Given the description of an element on the screen output the (x, y) to click on. 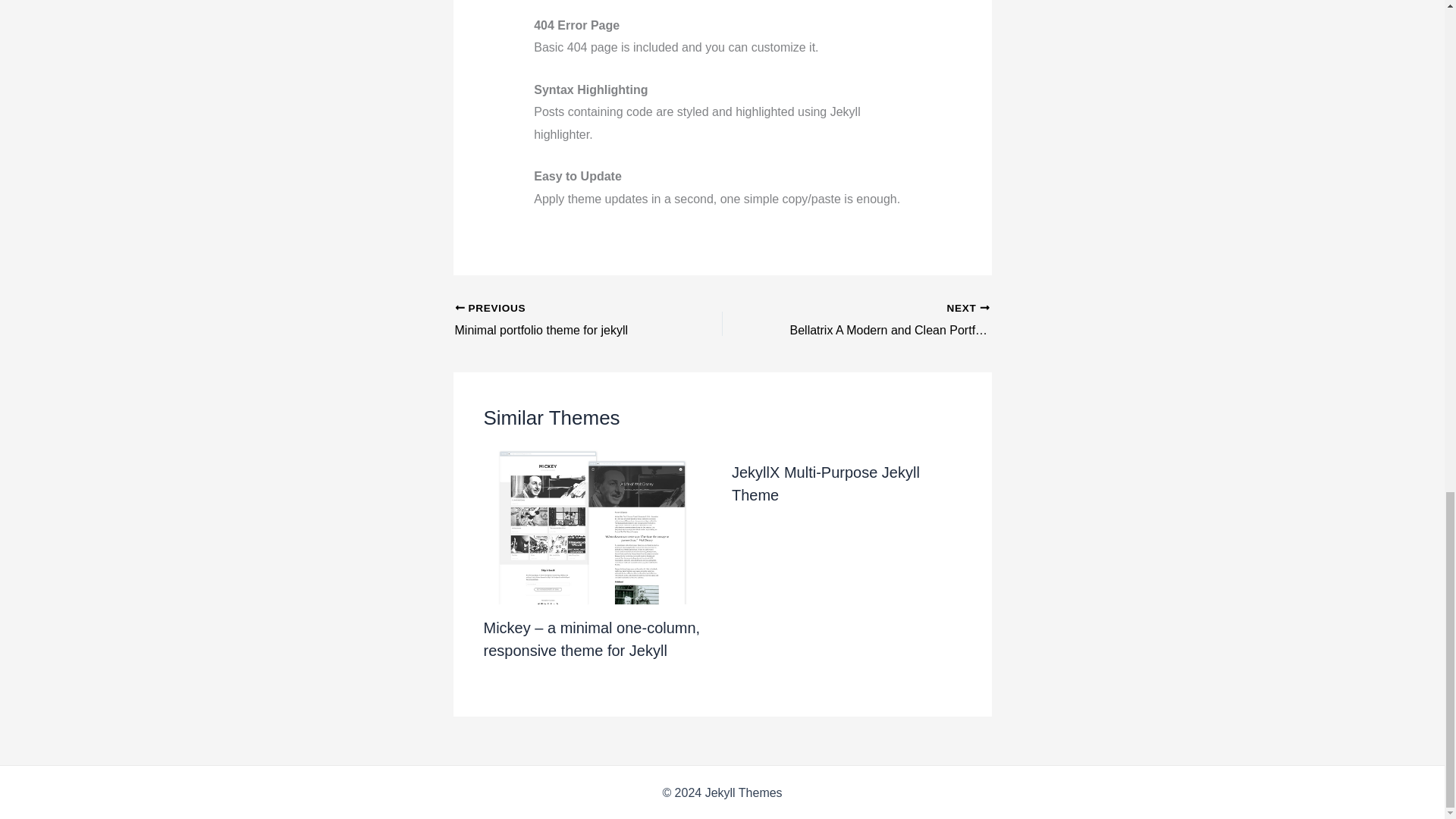
JekyllX Multi-Purpose Jekyll Theme (882, 320)
Bellatrix A Modern and Clean Portfolio Jekyll Theme (561, 320)
Minimal portfolio theme for jekyll (826, 483)
